Given the description of an element on the screen output the (x, y) to click on. 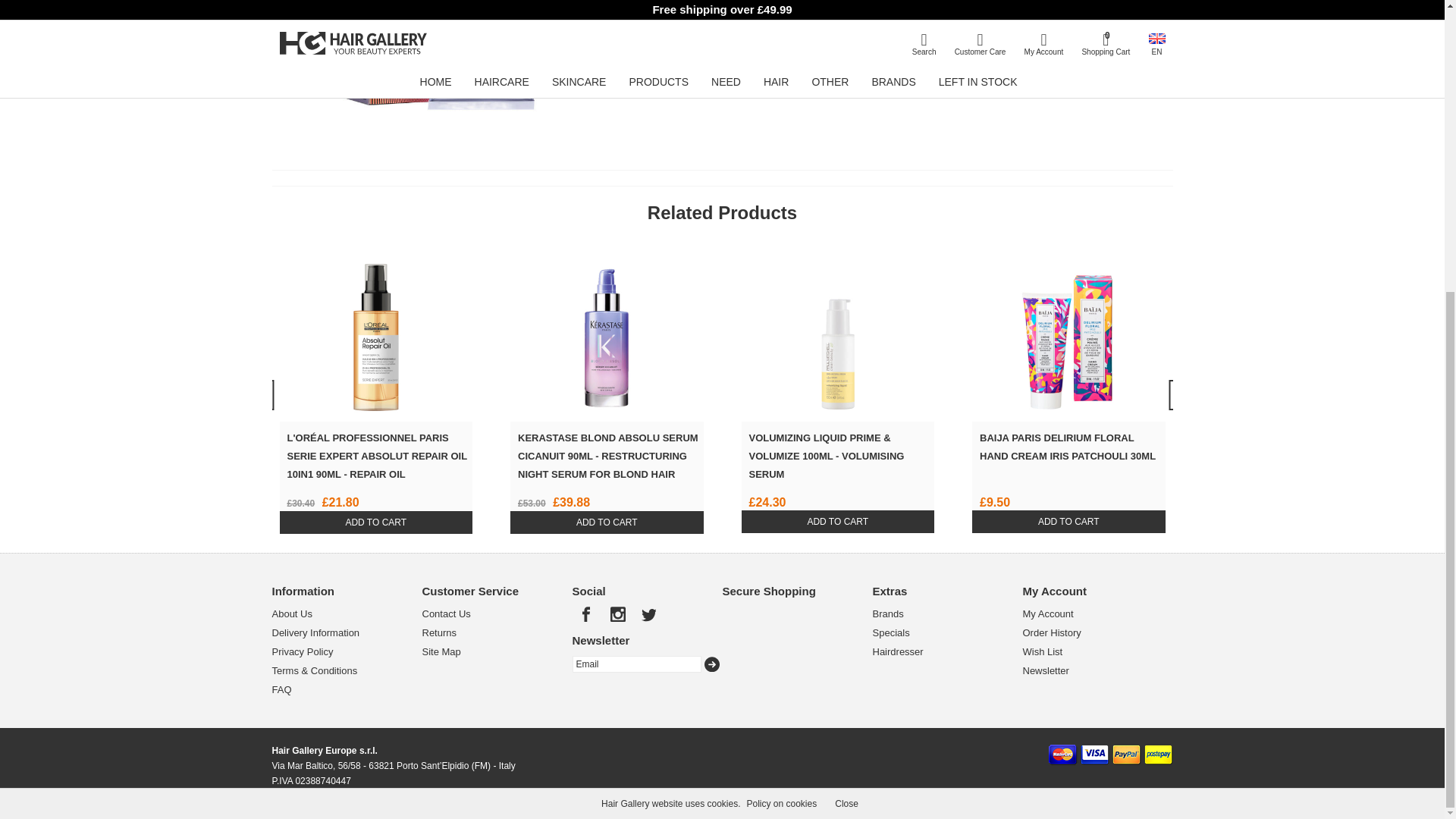
Add to Cart (607, 522)
Add to Cart (837, 521)
Email (636, 664)
Add to Cart (375, 522)
Baija Paris Delirium Floral Hand Cream Iris Patchouli 30ml (1067, 330)
Invia (711, 663)
Add to Cart (1069, 521)
